Given the description of an element on the screen output the (x, y) to click on. 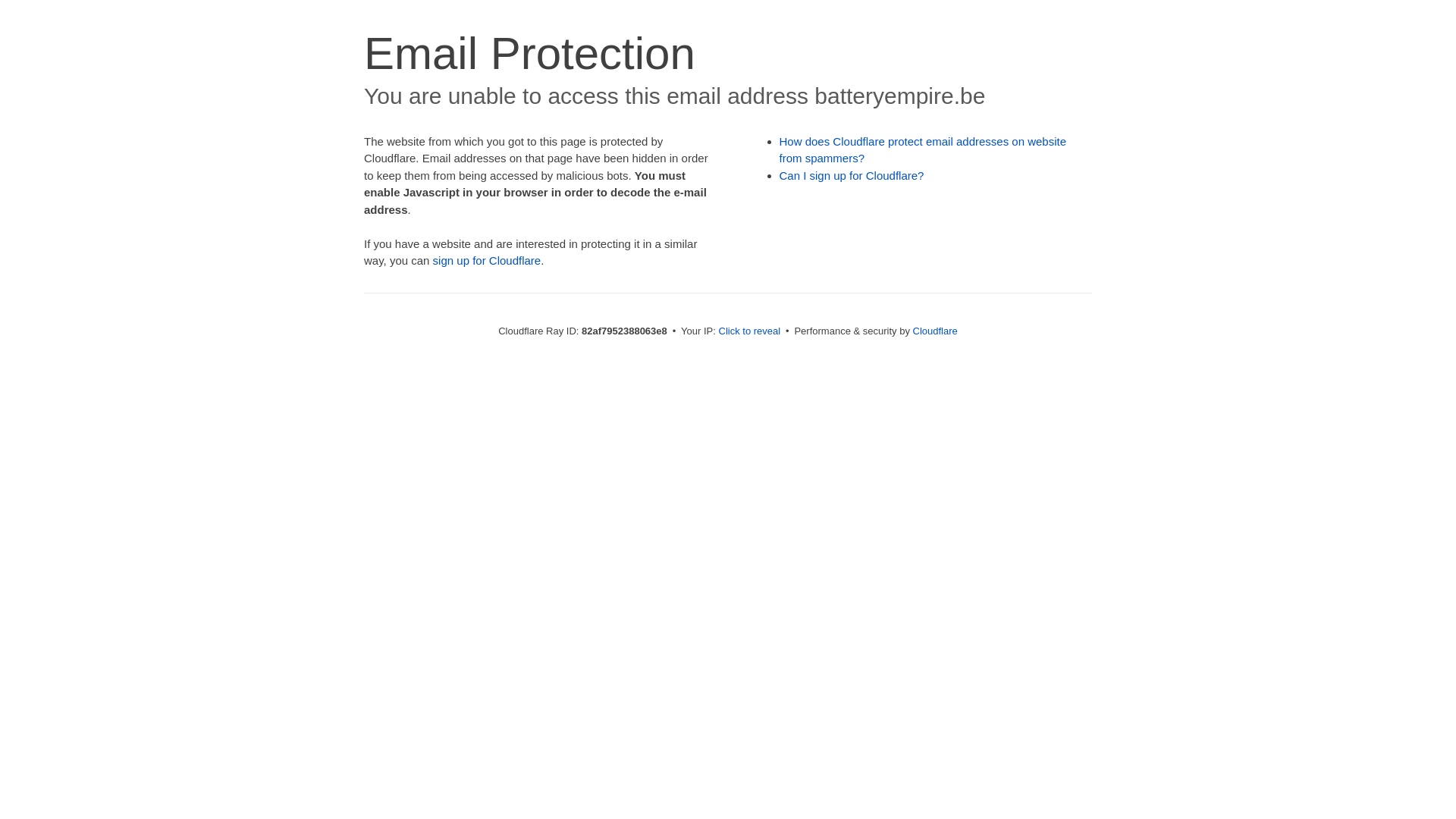
Can I sign up for Cloudflare? Element type: text (851, 175)
sign up for Cloudflare Element type: text (487, 260)
Cloudflare Element type: text (935, 330)
Click to reveal Element type: text (749, 330)
